Given the description of an element on the screen output the (x, y) to click on. 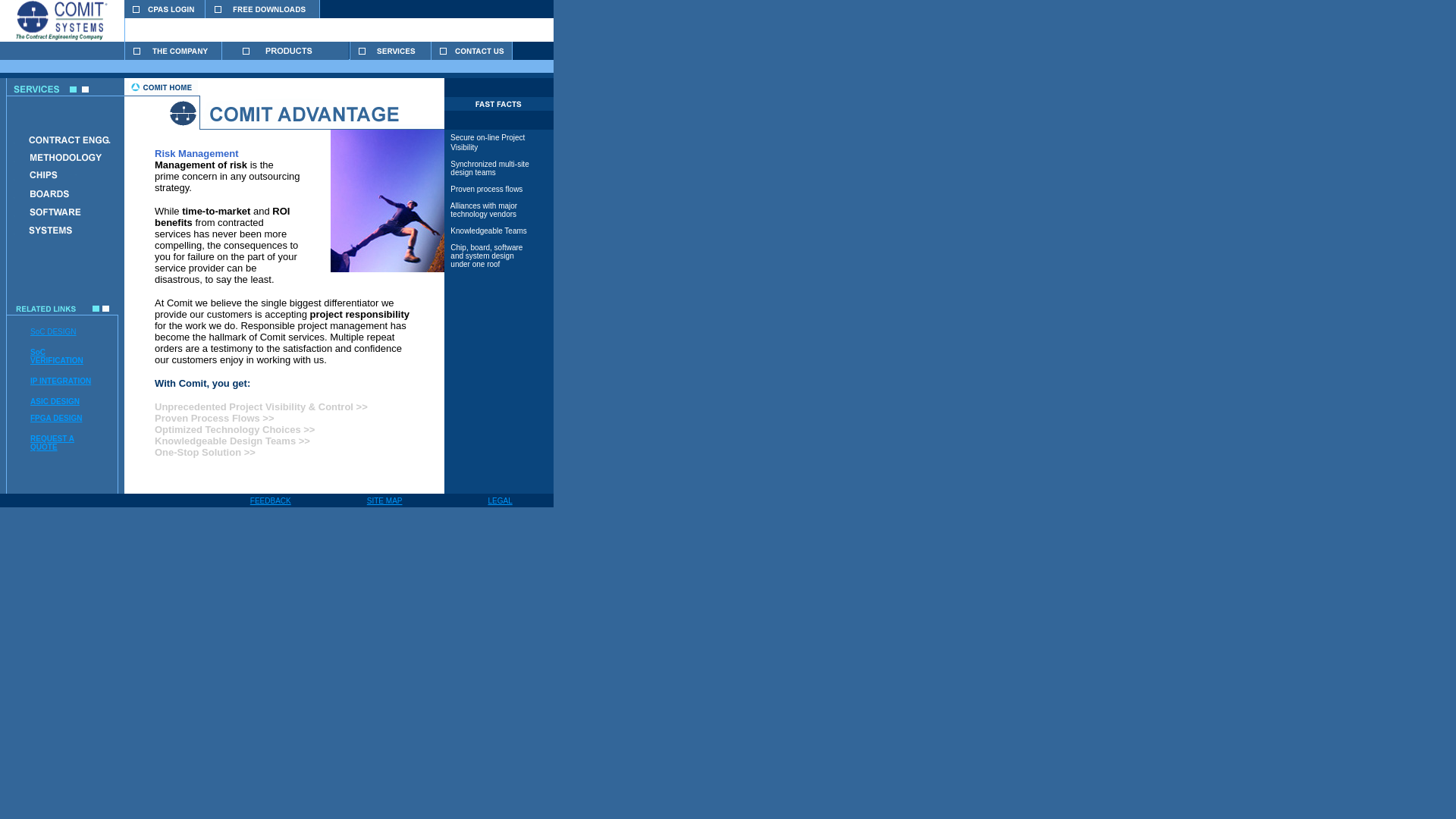
One-Stop Solution (197, 451)
SITE MAP (384, 500)
IP INTEGRATION (60, 380)
Proven Process Flows (261, 423)
Optimized Technology Choices (227, 435)
ASIC DESIGN (55, 401)
SoC DESIGN (53, 331)
LEGAL (499, 500)
REQUEST A QUOTE (52, 442)
FPGA DESIGN (56, 418)
